Given the description of an element on the screen output the (x, y) to click on. 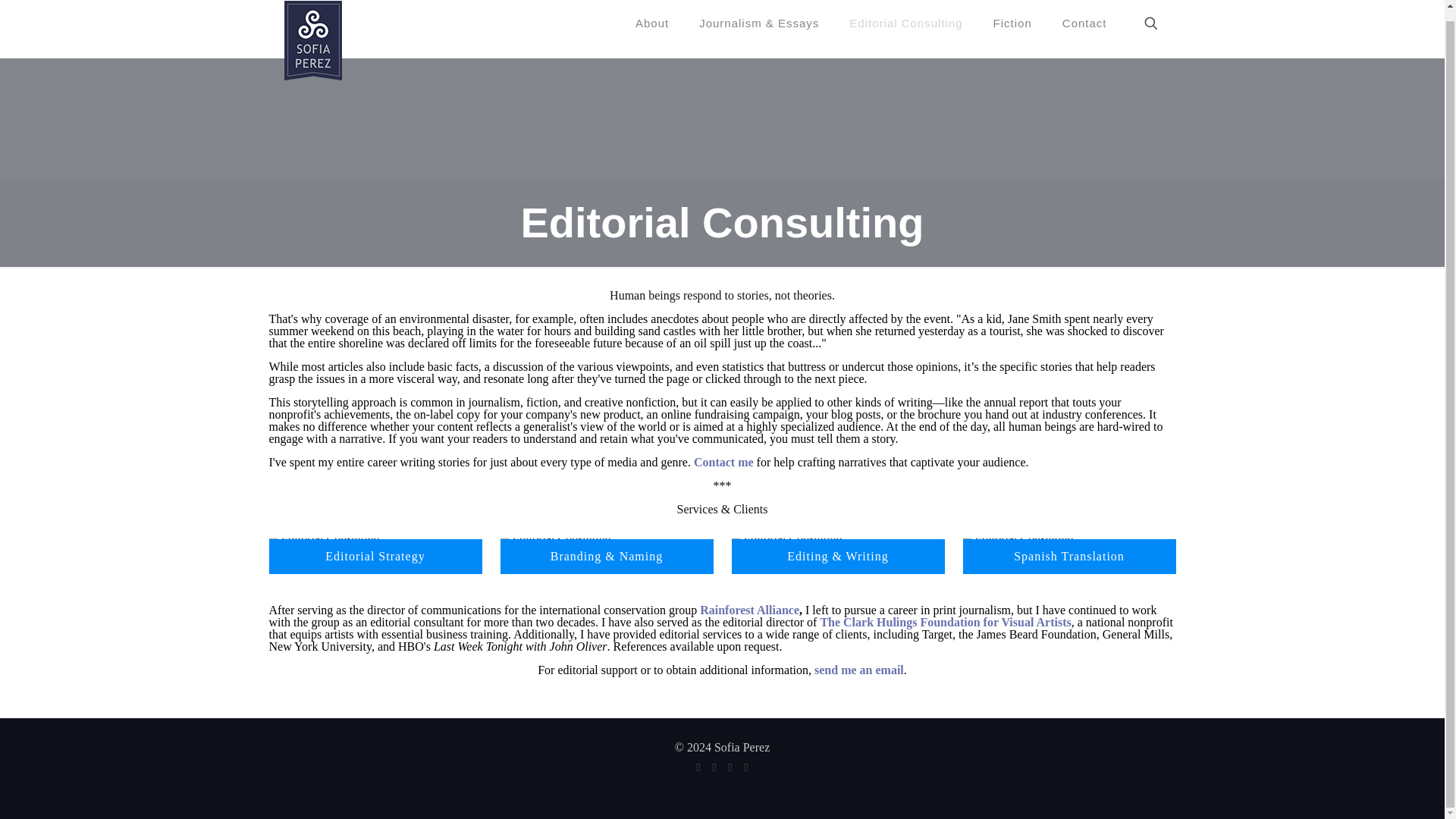
Contact me (724, 461)
The Clark Hulings Foundation for Visual Artists (944, 621)
Contact (1084, 28)
send me an email (858, 669)
Instagram (745, 767)
Editorial Consulting (905, 28)
LinkedIn (730, 767)
Facebook (698, 767)
Fiction (1012, 28)
Rainforest Alliance (749, 609)
